Given the description of an element on the screen output the (x, y) to click on. 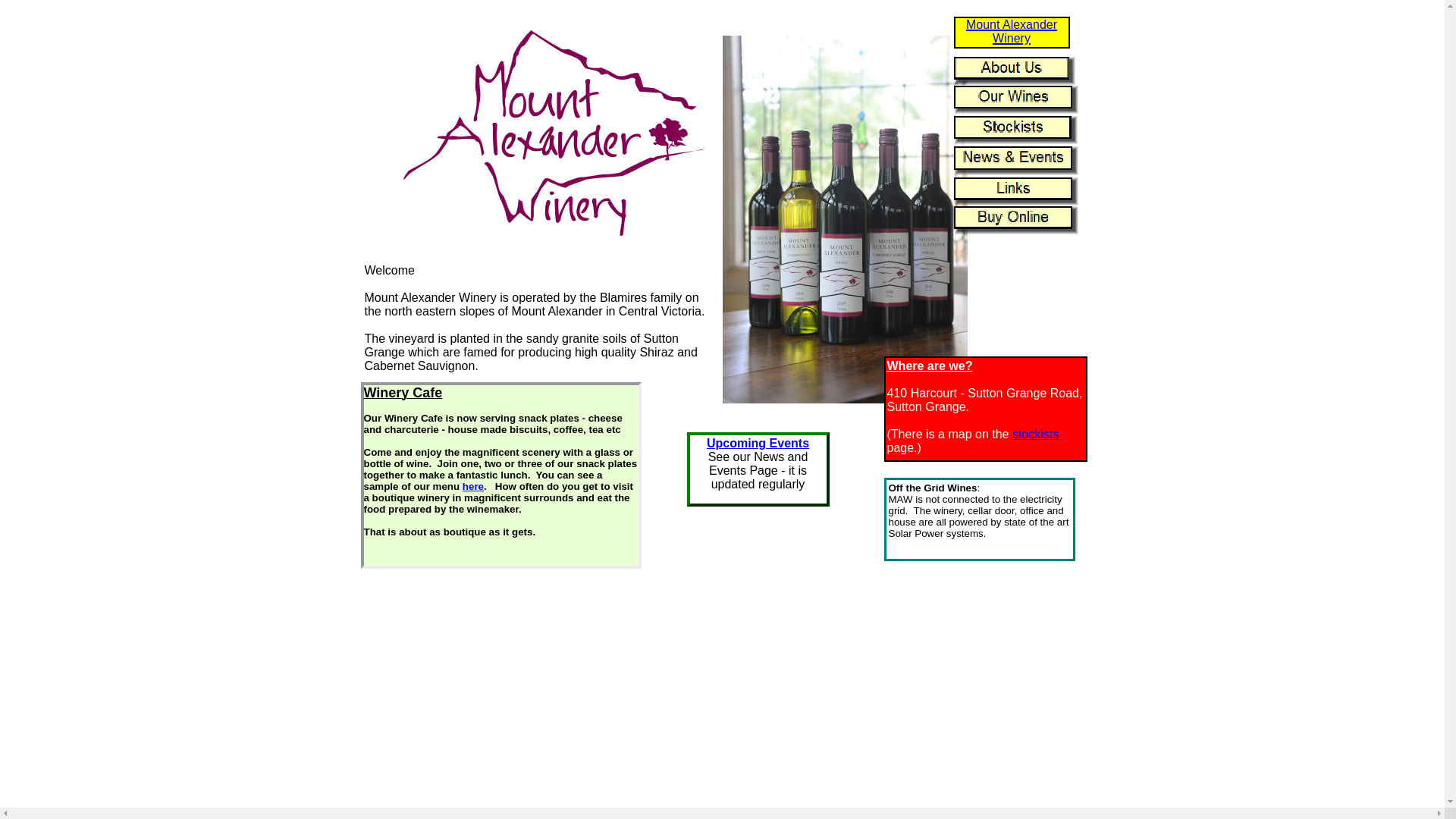
here Element type: text (472, 486)
Mount Alexander Winery Element type: hover (552, 132)
The Mount Alexander Range of Wines Element type: hover (843, 219)
stockists Element type: text (1035, 433)
Mount Alexander Winery Element type: text (1011, 31)
Upcoming Events Element type: text (757, 442)
